Given the description of an element on the screen output the (x, y) to click on. 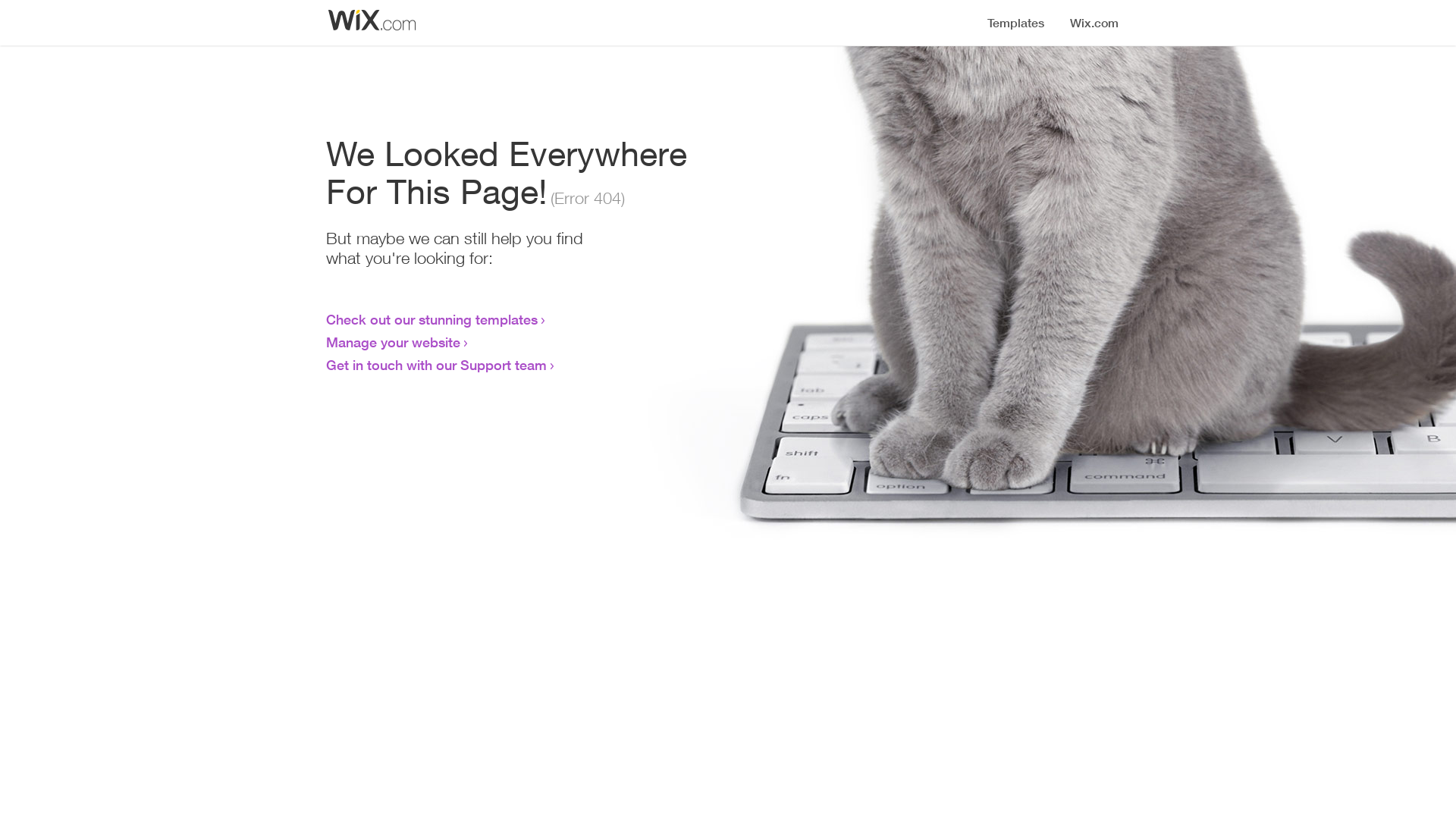
Manage your website Element type: text (393, 341)
Check out our stunning templates Element type: text (431, 318)
Get in touch with our Support team Element type: text (436, 364)
